Given the description of an element on the screen output the (x, y) to click on. 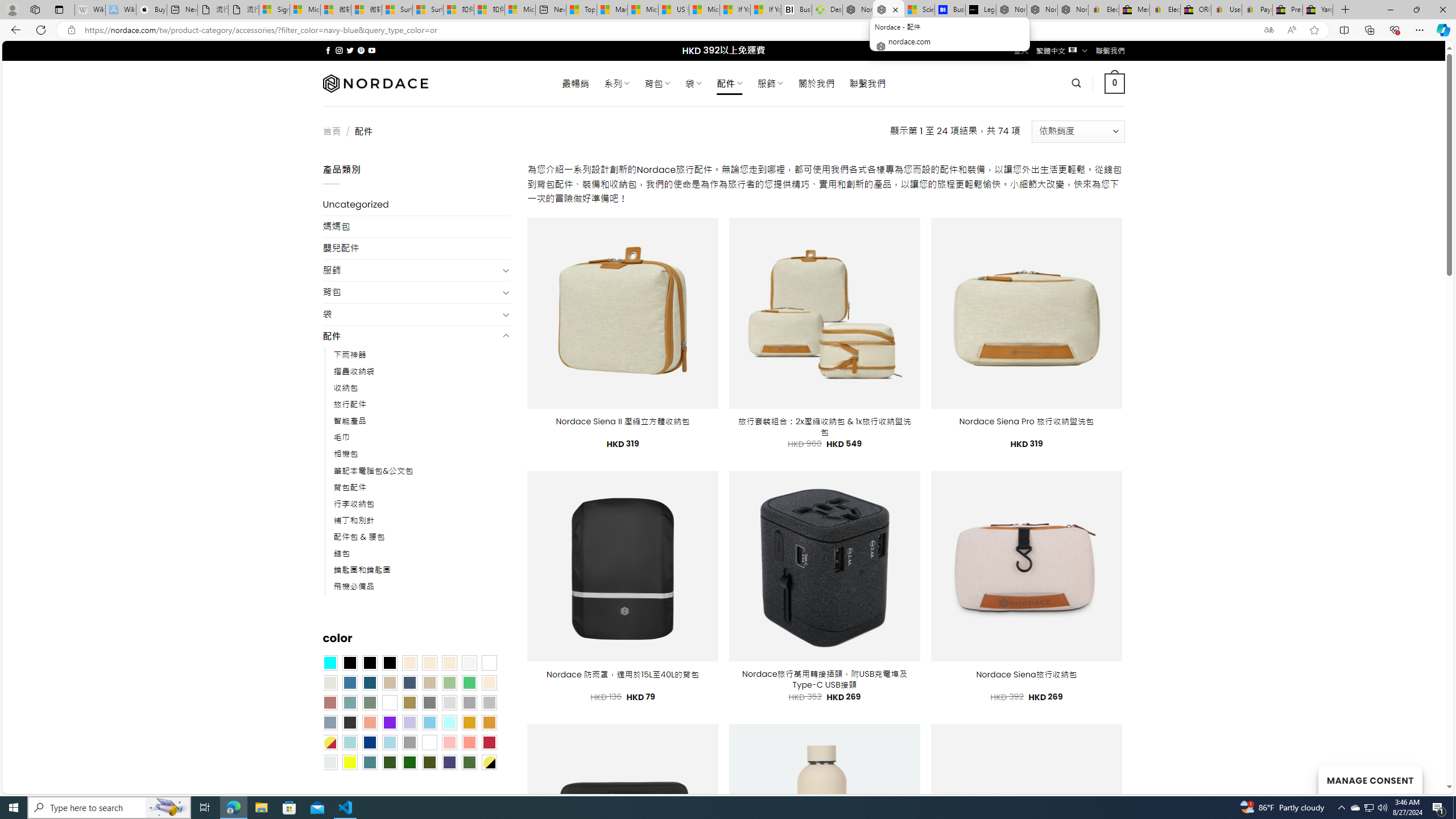
User Privacy Notice | eBay (1226, 9)
